Given the description of an element on the screen output the (x, y) to click on. 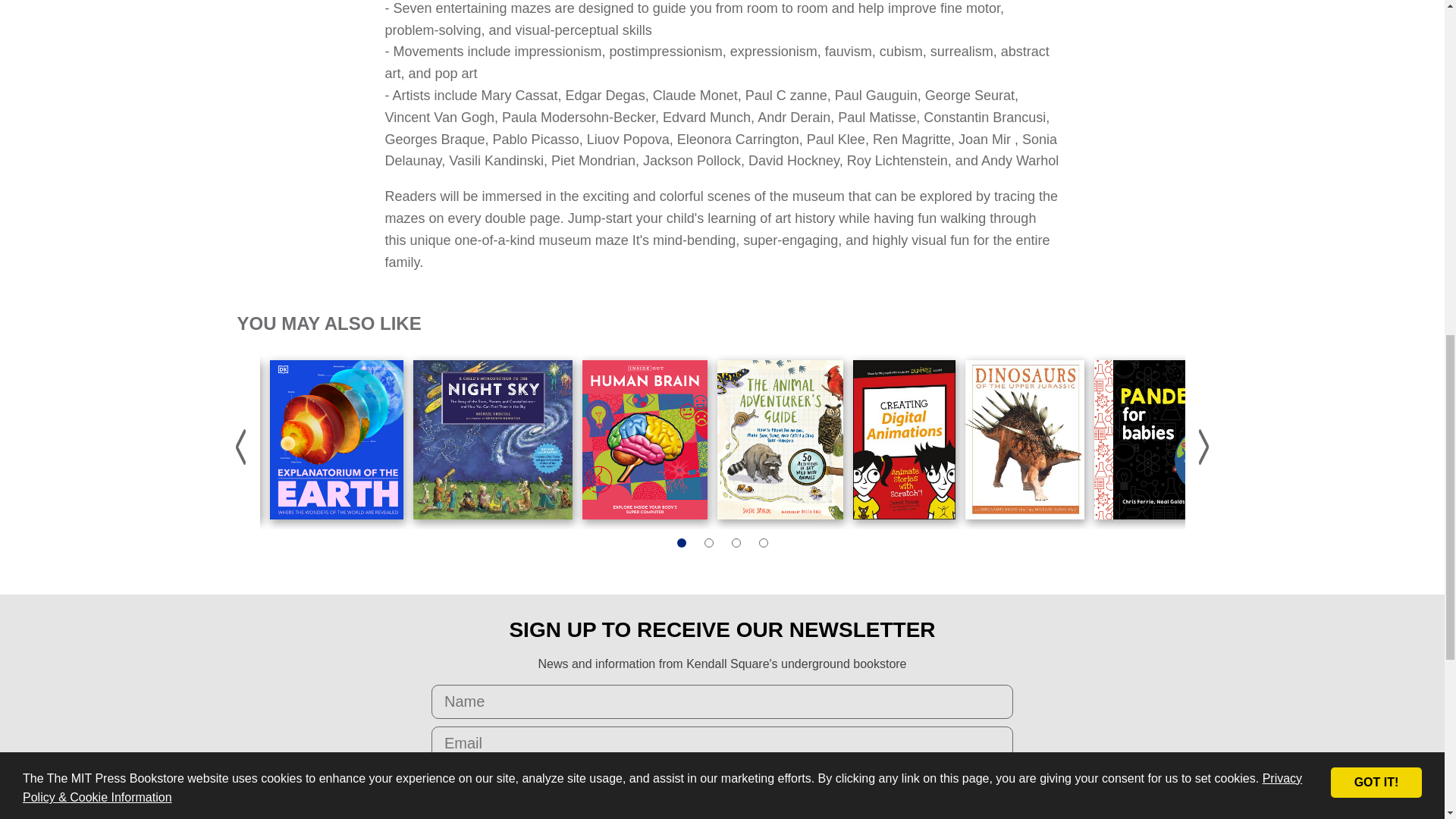
GOT IT! (1376, 59)
Join (721, 781)
